Given the description of an element on the screen output the (x, y) to click on. 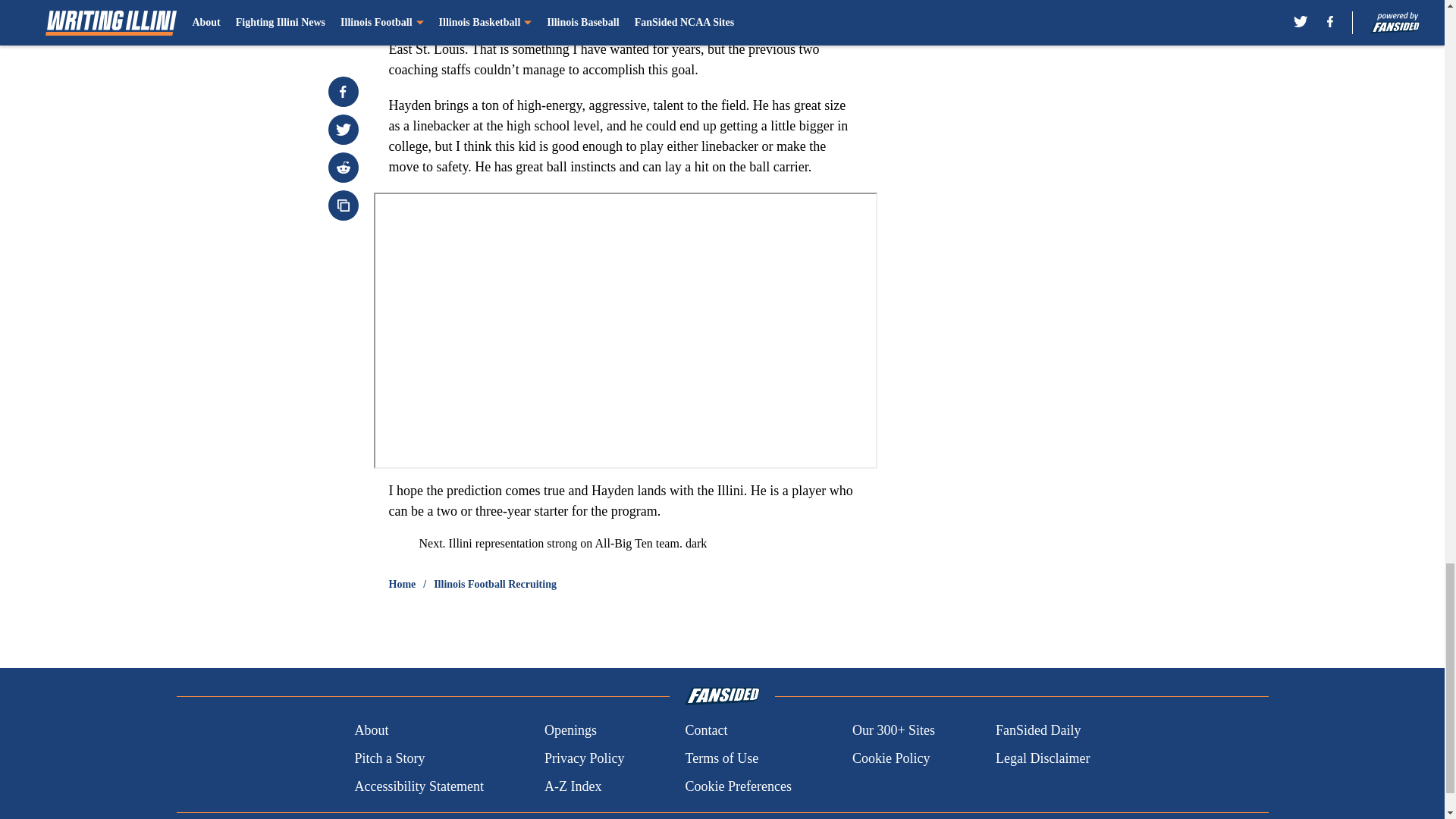
FanSided Daily (1038, 730)
Cookie Policy (890, 758)
Illinois Football Recruiting (494, 584)
Openings (570, 730)
Contact (705, 730)
About (370, 730)
Pitch a Story (389, 758)
Accessibility Statement (418, 786)
Legal Disclaimer (1042, 758)
A-Z Index (572, 786)
